Given the description of an element on the screen output the (x, y) to click on. 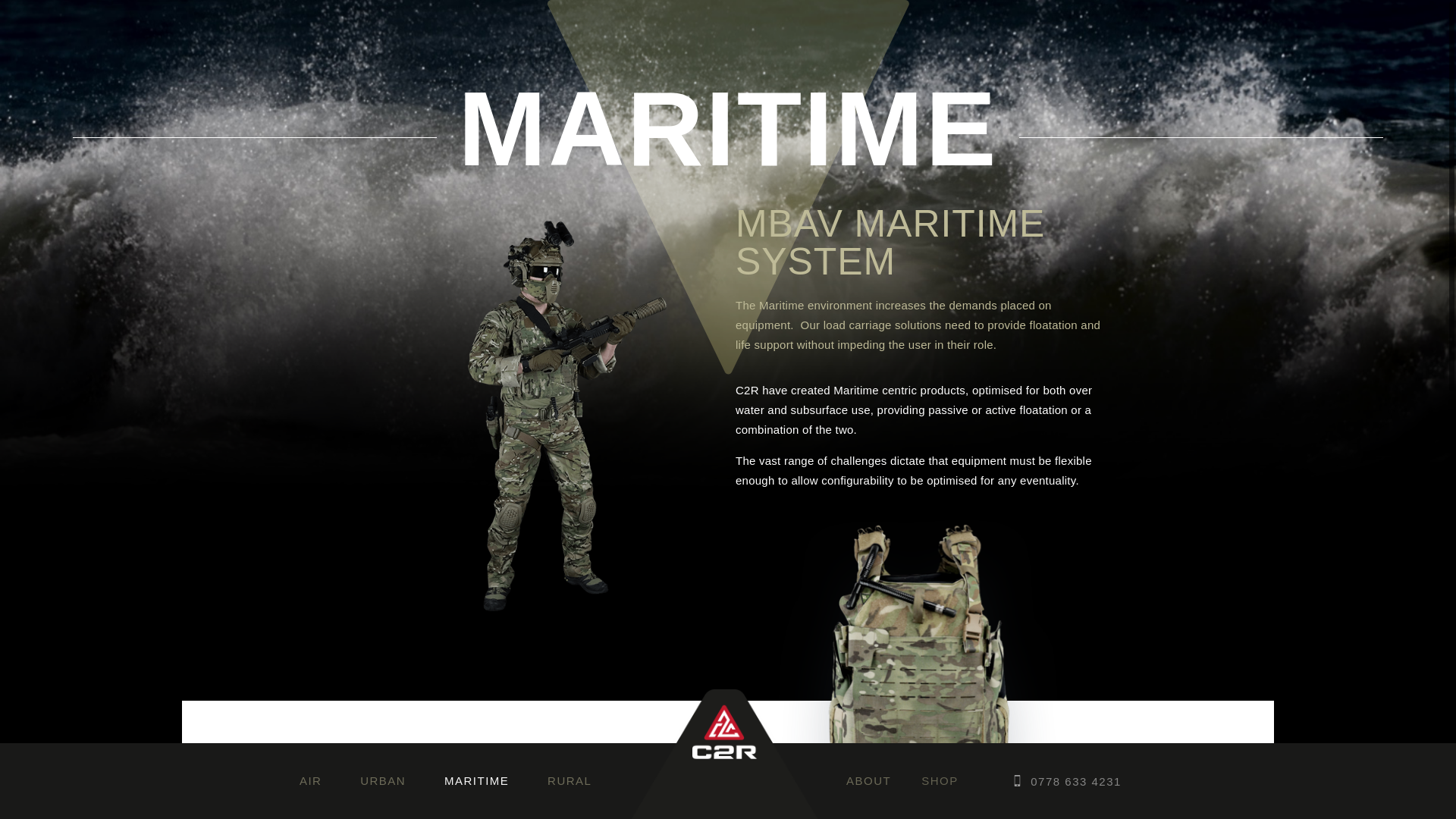
URBAN (382, 781)
0778 633 4231 (1075, 780)
ABOUT (868, 781)
RURAL (569, 781)
MARITIME (476, 781)
SHOP (939, 781)
AIR (310, 781)
